Given the description of an element on the screen output the (x, y) to click on. 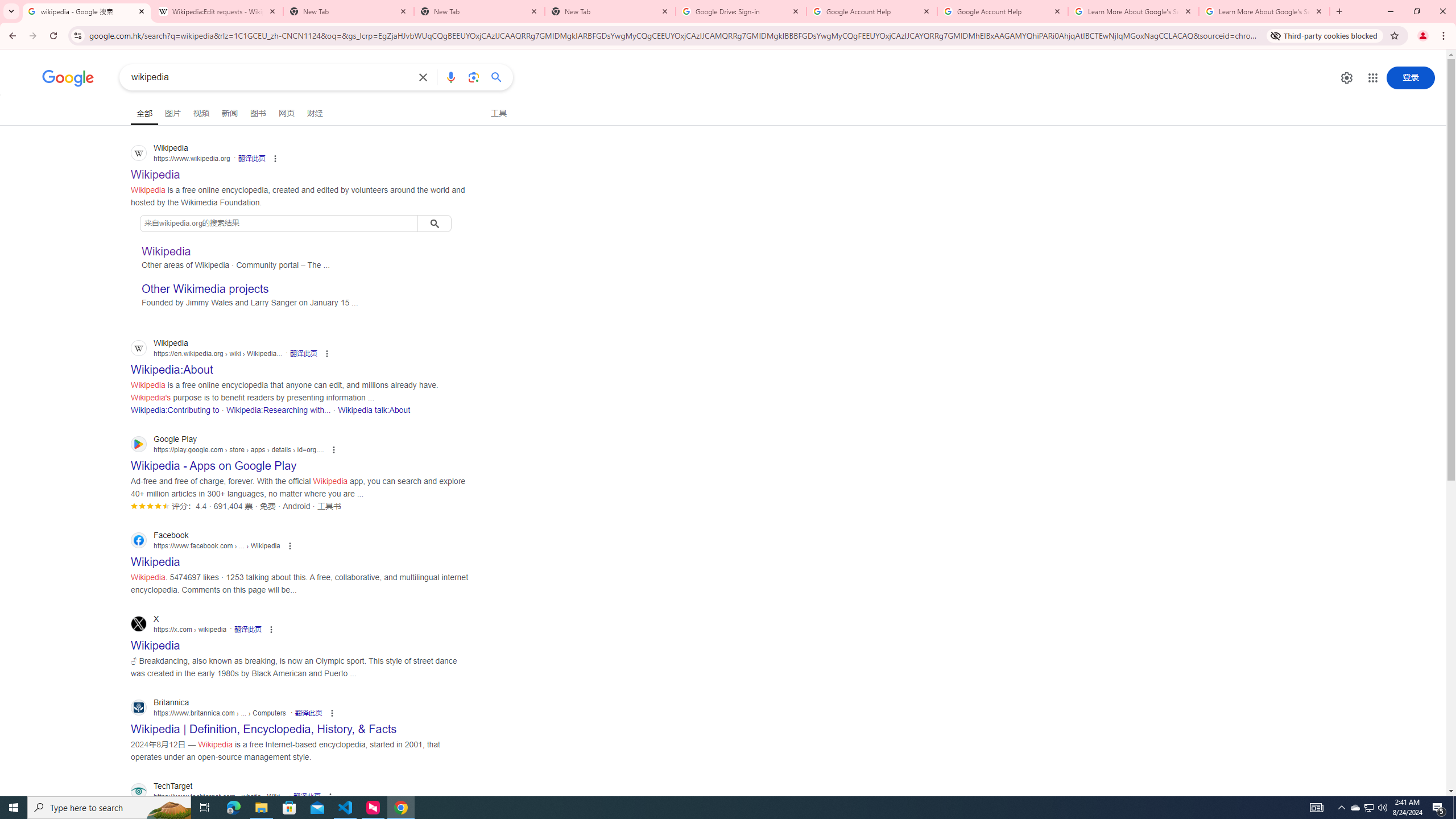
Wikipedia:Edit requests - Wikipedia (217, 11)
Wikipedia:Contributing to (175, 410)
